Given the description of an element on the screen output the (x, y) to click on. 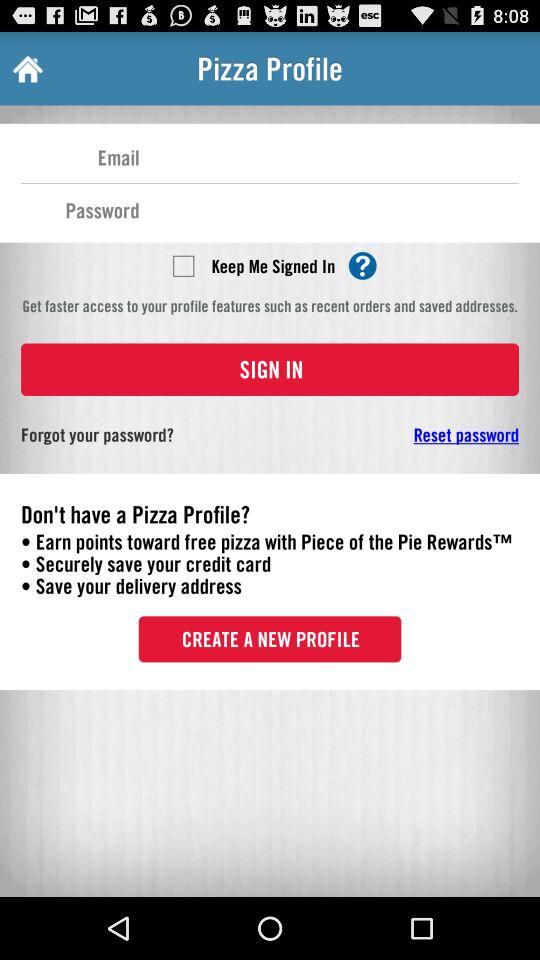
option for keep me signed in (183, 265)
